Given the description of an element on the screen output the (x, y) to click on. 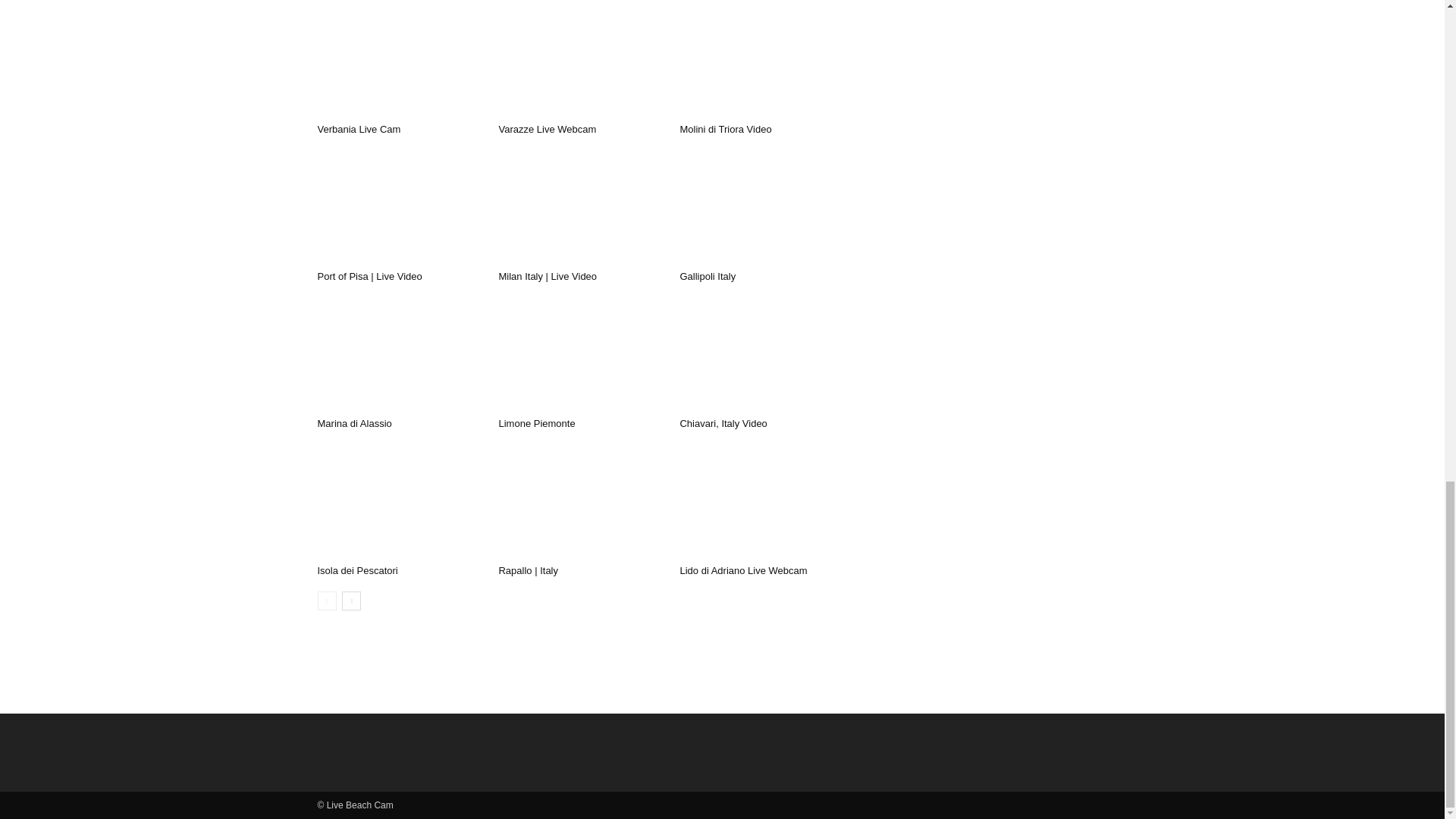
Molini di Triora Video (725, 129)
Verbania Live Cam (399, 60)
Verbania Live Cam (358, 129)
Molini di Triora Video (761, 60)
Varazze Live Webcam (580, 60)
Varazze Live Webcam (546, 129)
